Given the description of an element on the screen output the (x, y) to click on. 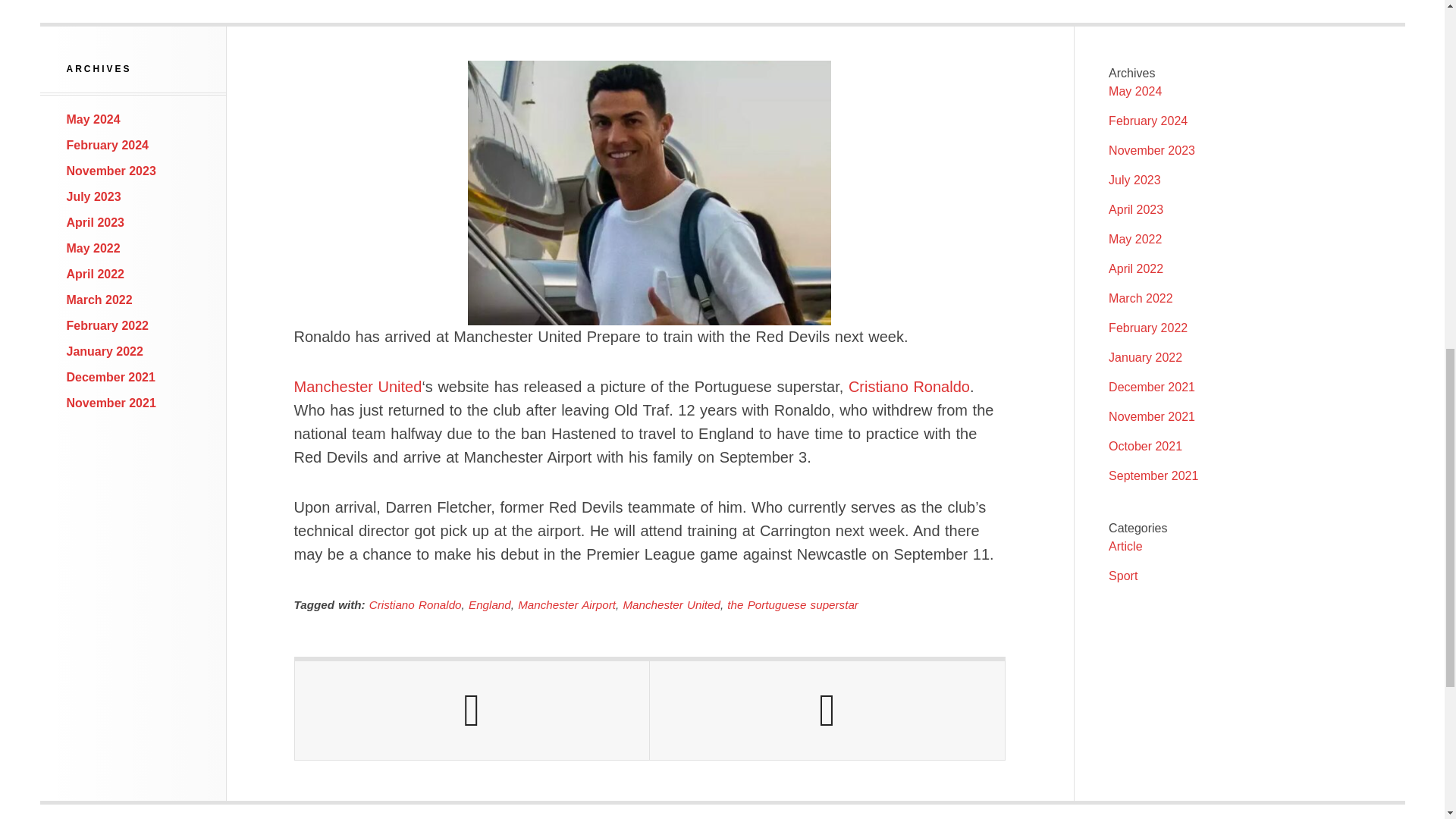
March 2022 (99, 299)
February 2024 (1148, 120)
December 2021 (110, 377)
England (489, 604)
Manchester United (671, 604)
Previous Post (471, 710)
the Portuguese superstar (792, 604)
January 2022 (104, 350)
April 2023 (1135, 209)
July 2023 (1134, 179)
November 2023 (110, 170)
February 2024 (107, 144)
May 2022 (1134, 238)
November 2023 (1151, 150)
May 2022 (93, 247)
